Given the description of an element on the screen output the (x, y) to click on. 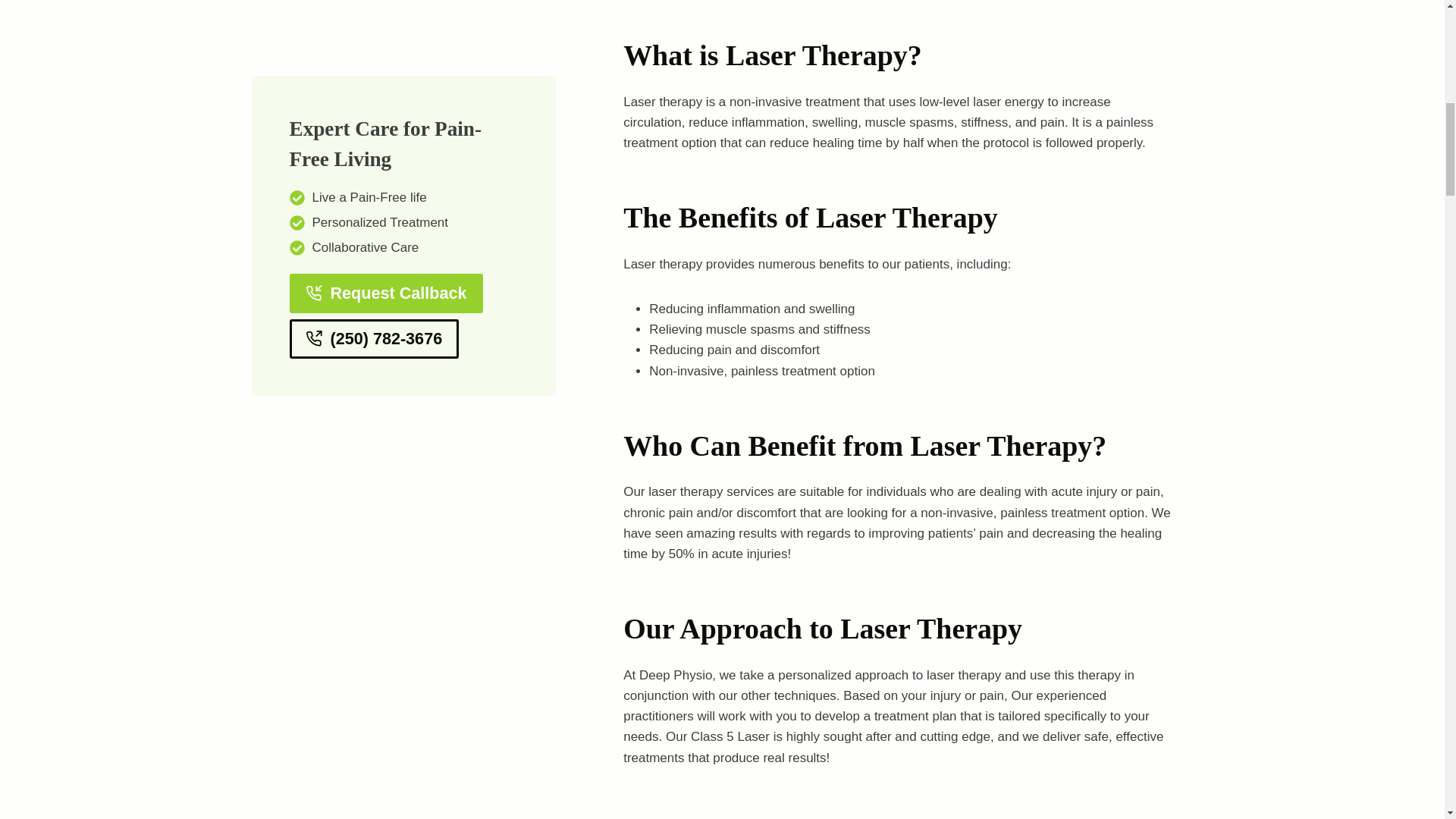
Request Callback (386, 21)
